Given the description of an element on the screen output the (x, y) to click on. 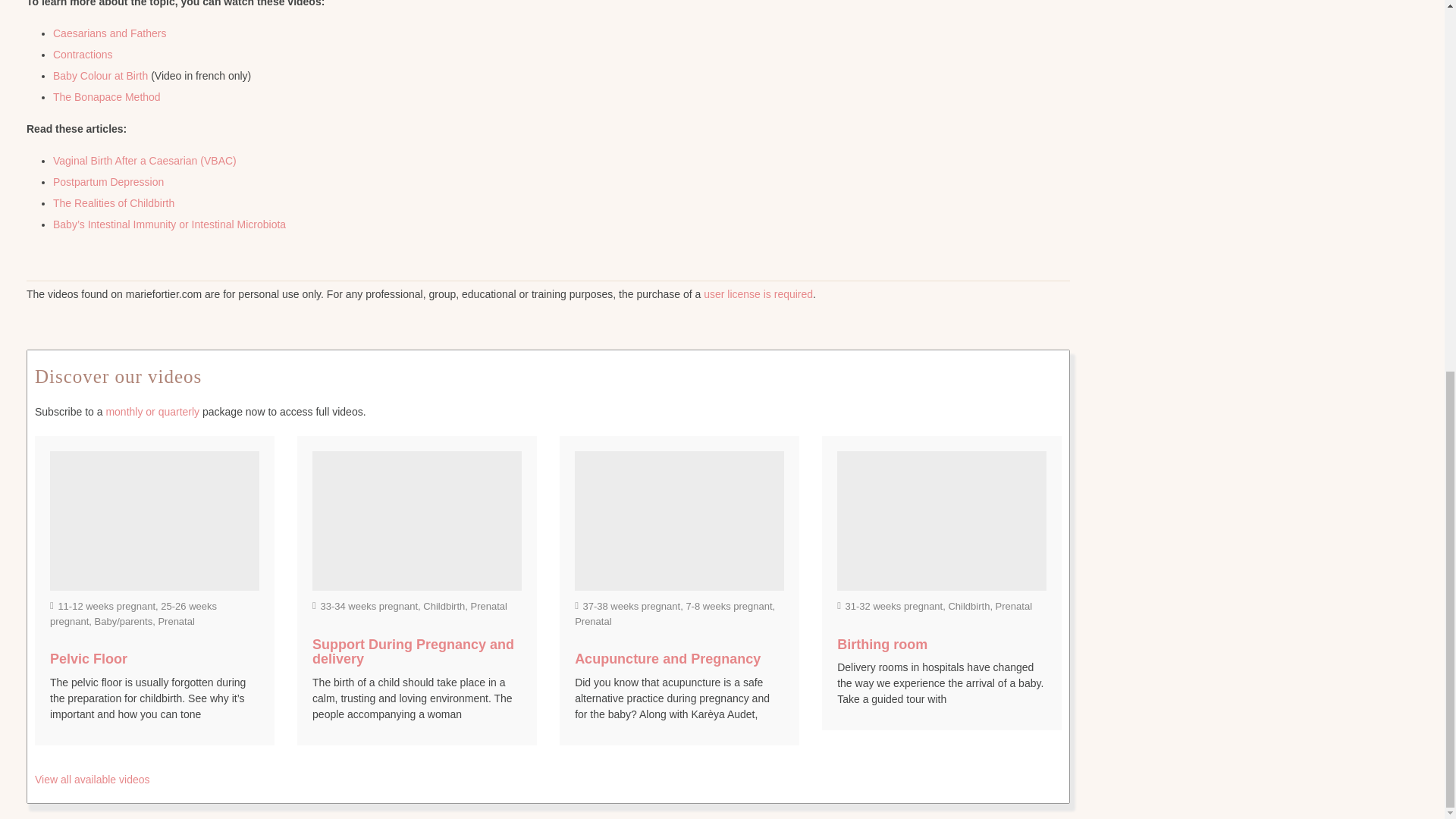
Prenatal (488, 605)
11-12 weeks pregnant (106, 605)
33-34 weeks pregnant (368, 605)
37-38 weeks pregnant (630, 605)
25-26 weeks pregnant (132, 613)
7-8 weeks pregnant (728, 605)
Childbirth (443, 605)
Prenatal (593, 621)
Childbirth (968, 605)
31-32 weeks pregnant (894, 605)
